Given the description of an element on the screen output the (x, y) to click on. 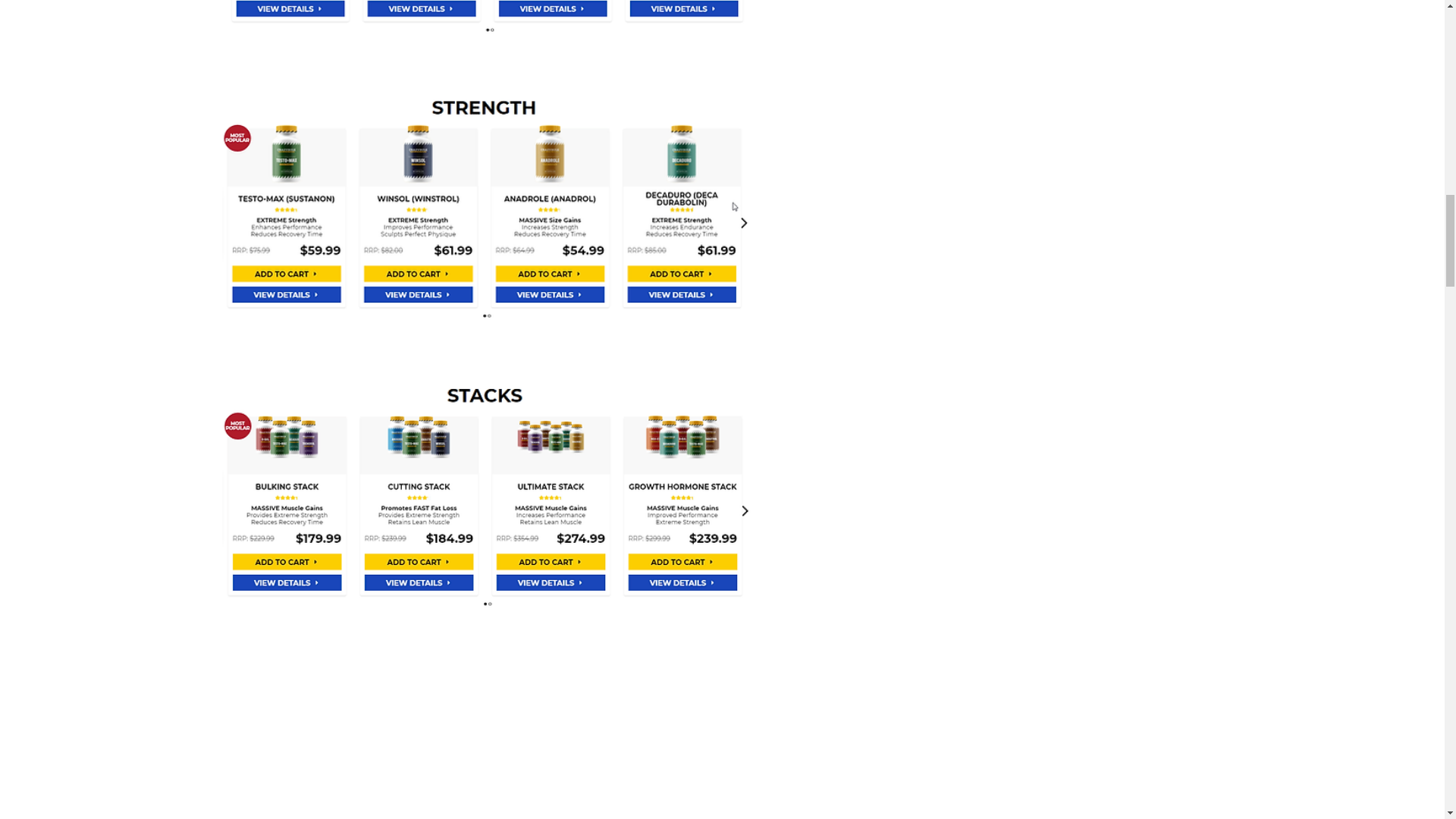
tablets bulking steroids (486, 492)
steroids bulking tablets (486, 19)
bulking steroids tablets (486, 205)
